Given the description of an element on the screen output the (x, y) to click on. 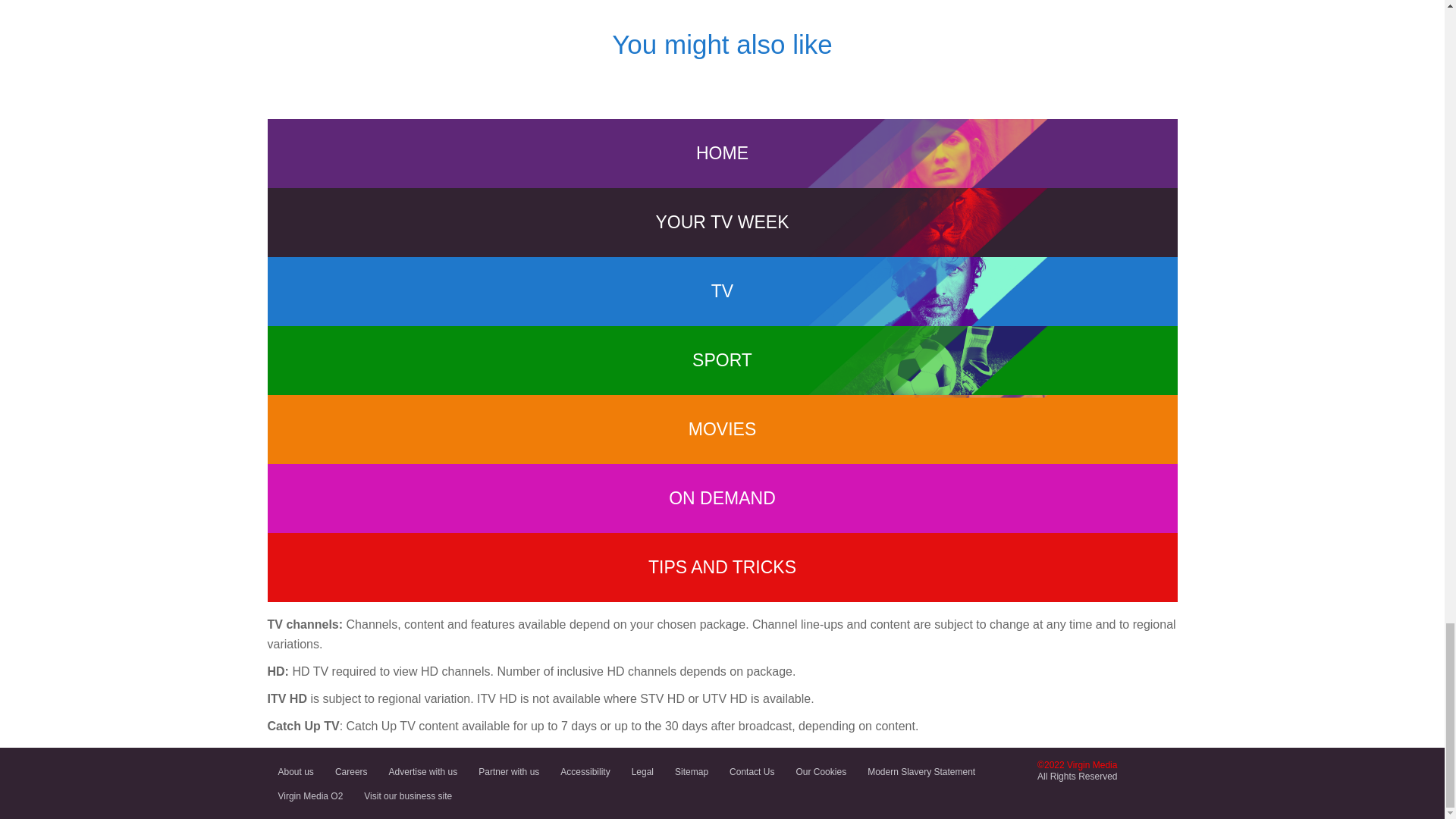
Our Cookies (820, 771)
Legal (642, 771)
Contact Us (751, 771)
Advertise with us (423, 771)
Sitemap (691, 771)
About us (294, 771)
Accessibility (585, 771)
Careers (351, 771)
Partner with us (508, 771)
